Given the description of an element on the screen output the (x, y) to click on. 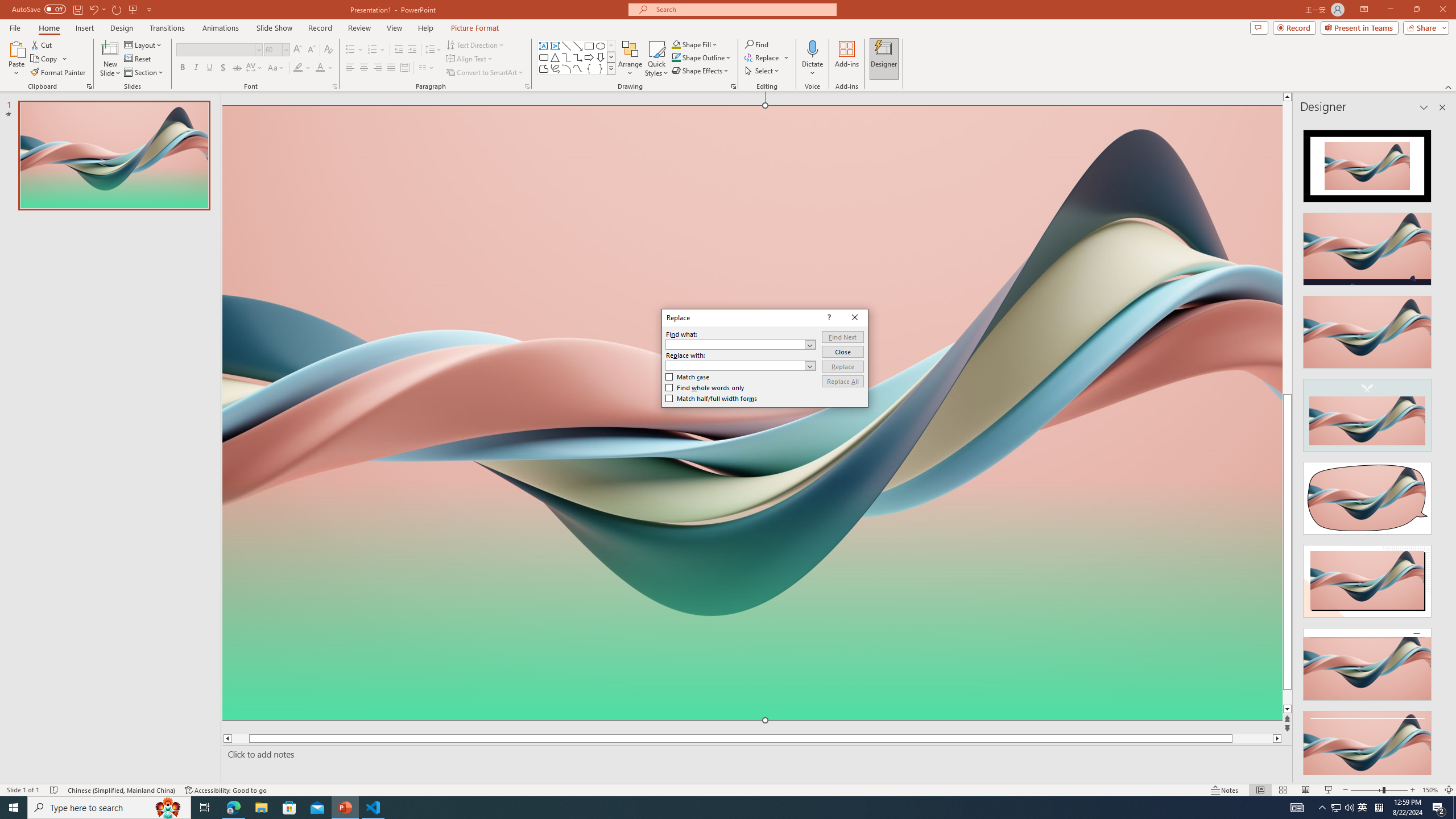
Find whole words only (705, 387)
Replace with (740, 365)
